Given the description of an element on the screen output the (x, y) to click on. 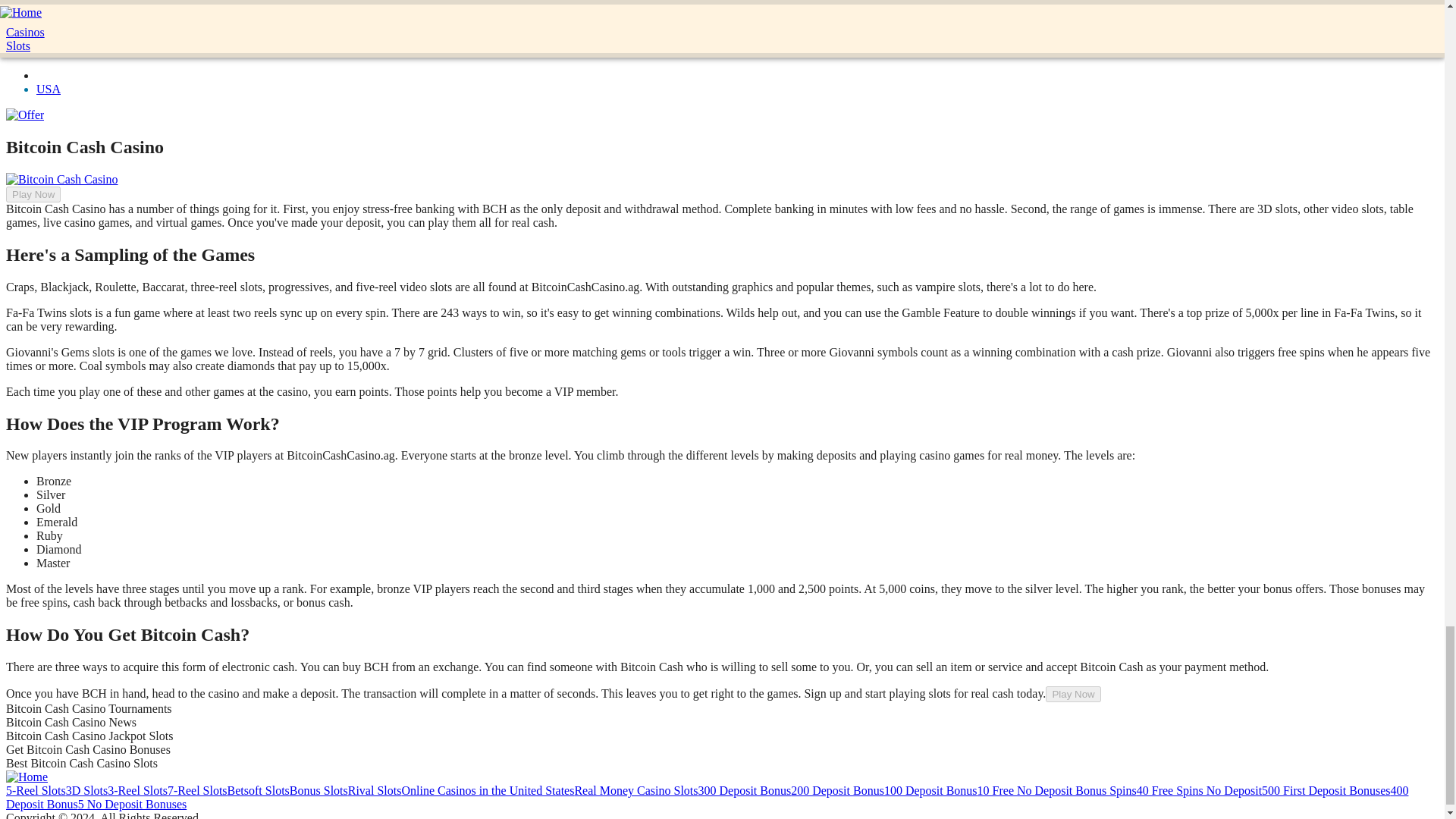
5 No Deposit Bonuses (132, 803)
200 Deposit Bonus (836, 789)
Rival Slots (374, 789)
500 First Deposit Bonuses (1326, 789)
Bonus Slots (318, 789)
USA (48, 88)
3-Reel Slots (137, 789)
3D Slots (86, 789)
Betsoft Slots (258, 789)
Play Now (1072, 693)
Online Casinos in the United States (487, 789)
7-Reel Slots (197, 789)
Real Money Casino Slots (635, 789)
5-Reel Slots (35, 789)
400 Deposit Bonus (706, 796)
